Given the description of an element on the screen output the (x, y) to click on. 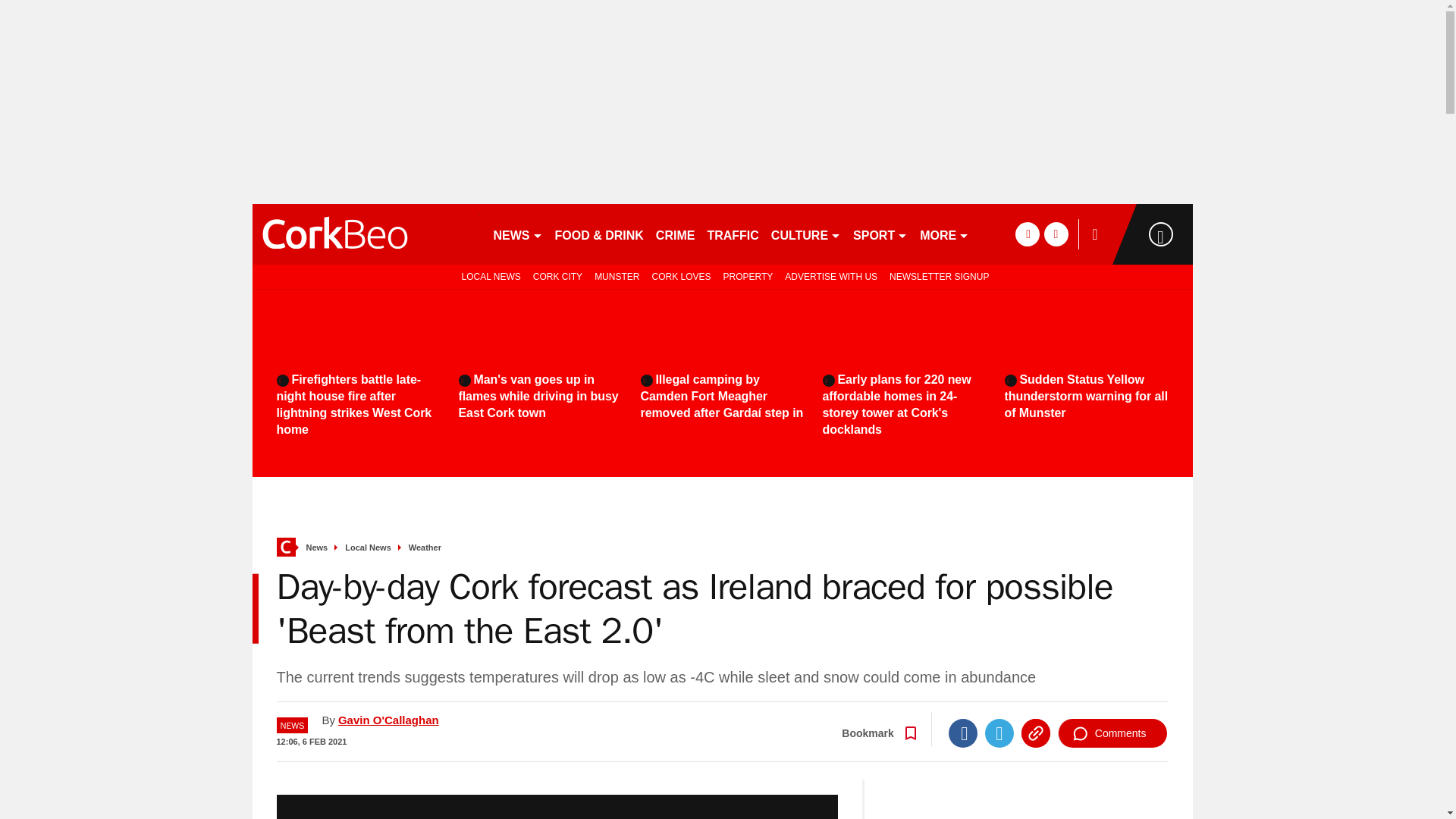
Twitter (999, 733)
PROPERTY (747, 275)
NEWSLETTER SIGNUP (938, 275)
CULTURE (806, 233)
MUNSTER (616, 275)
LOCAL NEWS (488, 275)
ADVERTISE WITH US (830, 275)
MORE (944, 233)
facebook (1026, 233)
twitter (1055, 233)
